Given the description of an element on the screen output the (x, y) to click on. 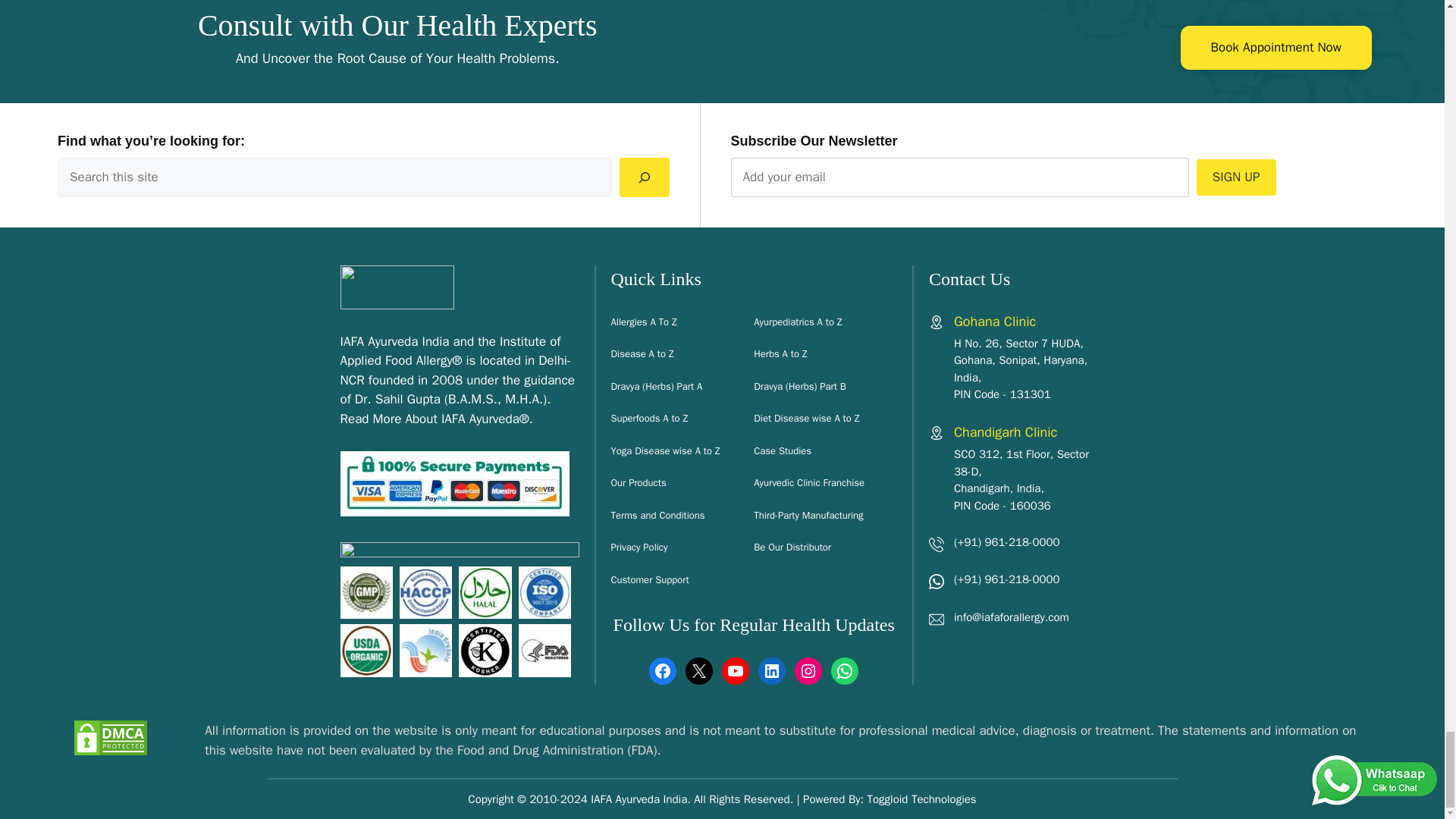
DMCA.com Protection Status (132, 740)
